Given the description of an element on the screen output the (x, y) to click on. 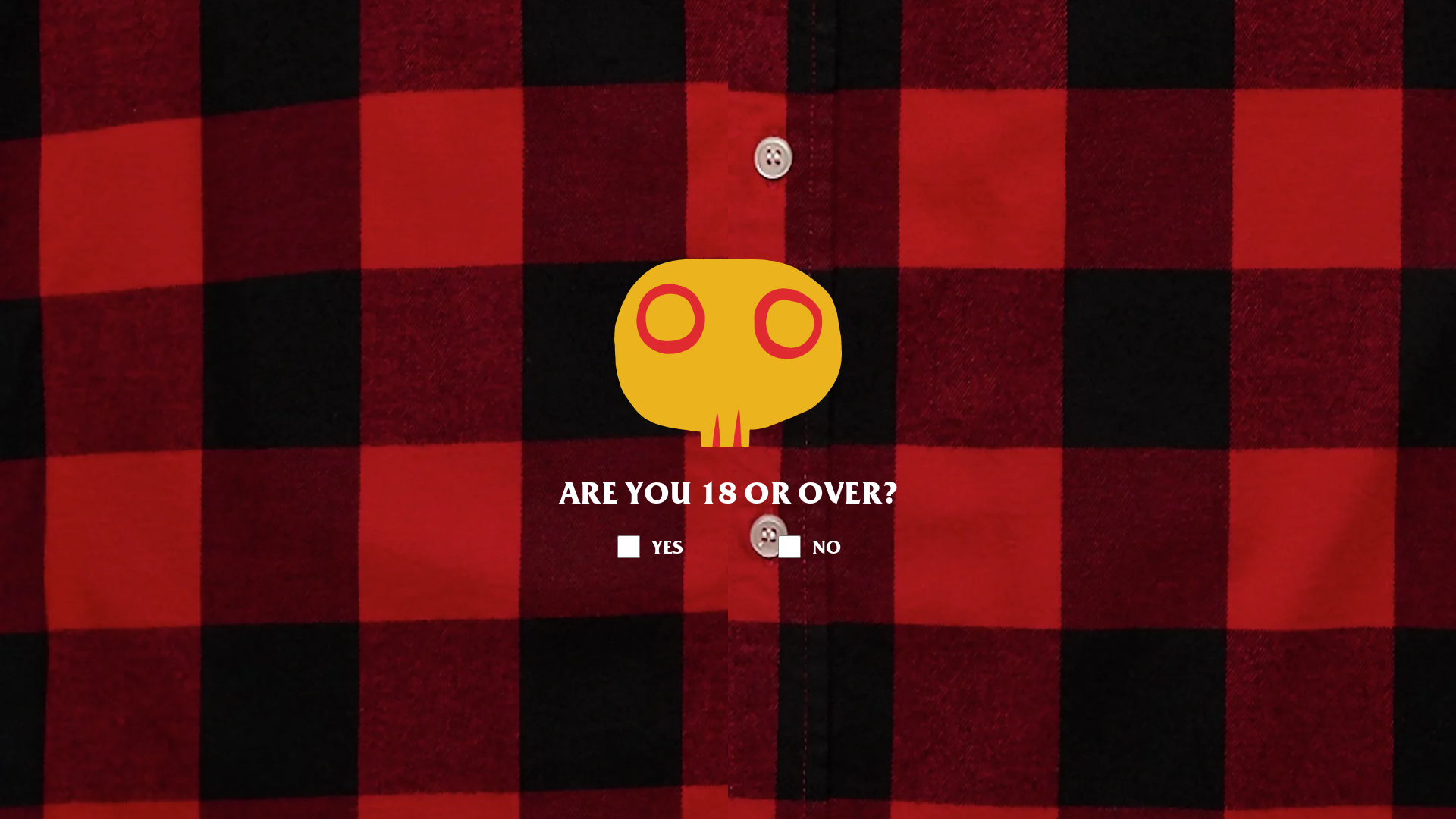
Instagram Element type: text (410, 38)
BEER Element type: text (527, 87)
Facebook Element type: text (377, 38)
Cart Element type: text (1087, 38)
NOT BEER Element type: text (628, 87)
Subscribe Element type: text (444, 38)
VISIT BEER Element type: text (908, 87)
